Given the description of an element on the screen output the (x, y) to click on. 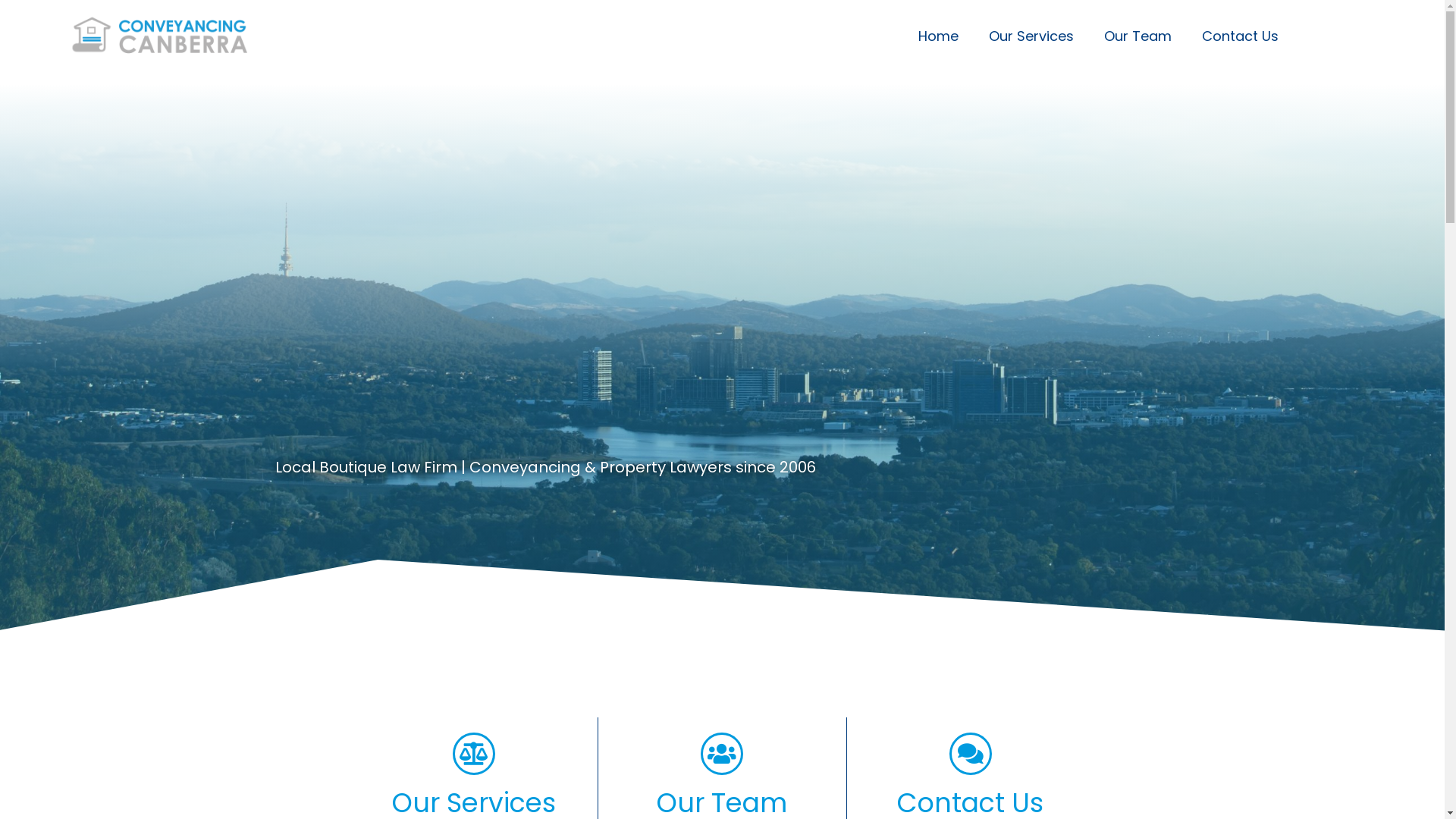
Contact Us Element type: text (1239, 36)
ConveyancingCanberraLogo-Icon2 Element type: hover (91, 35)
ConveyancingCanberraLogo-Text Element type: hover (183, 36)
Home Element type: text (938, 36)
Our Services Element type: text (1030, 36)
Our Team Element type: text (1137, 36)
